Given the description of an element on the screen output the (x, y) to click on. 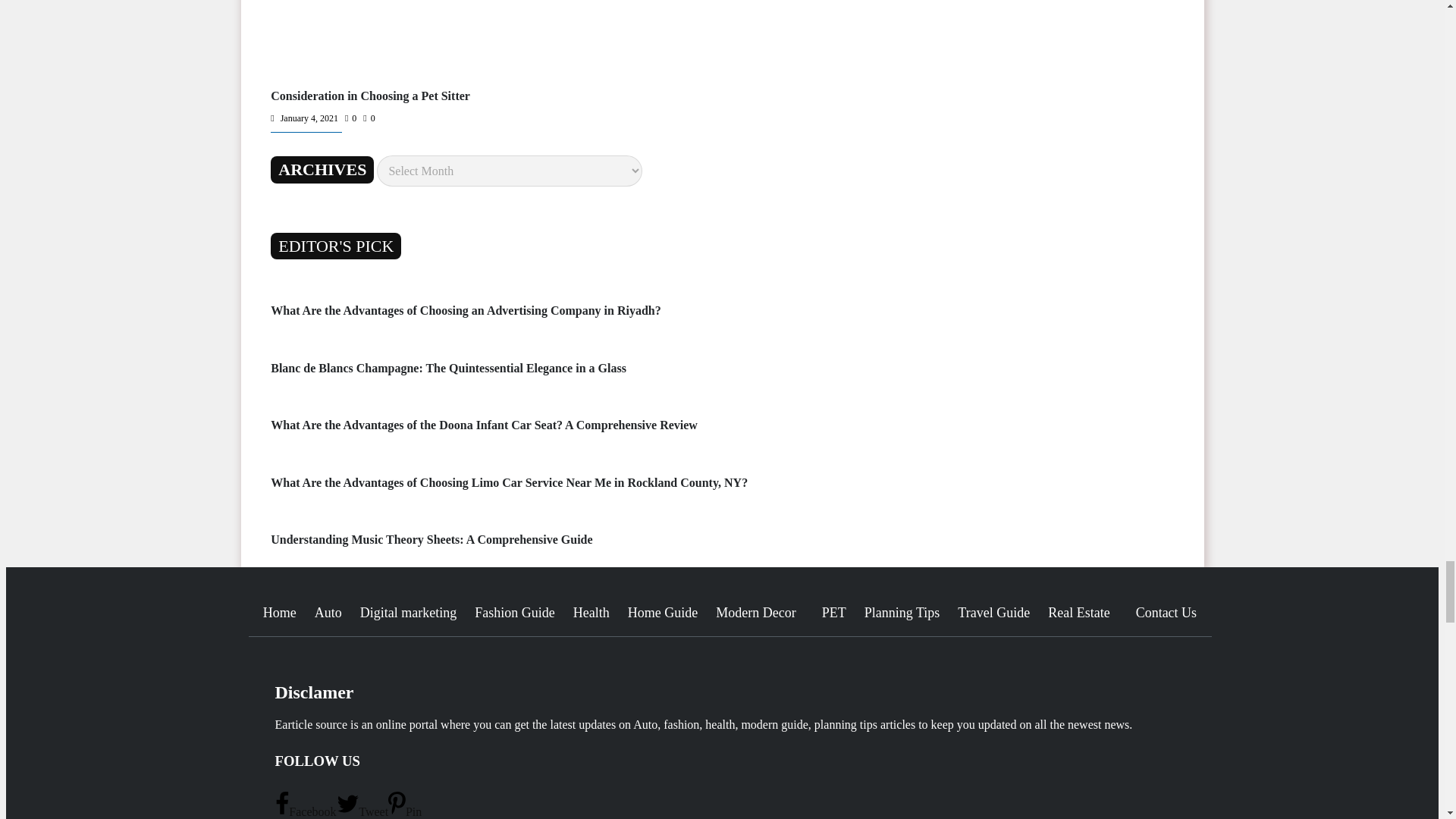
Share on Facebook (305, 811)
Share on Twitter (362, 811)
Share on Pinterest (405, 811)
